Given the description of an element on the screen output the (x, y) to click on. 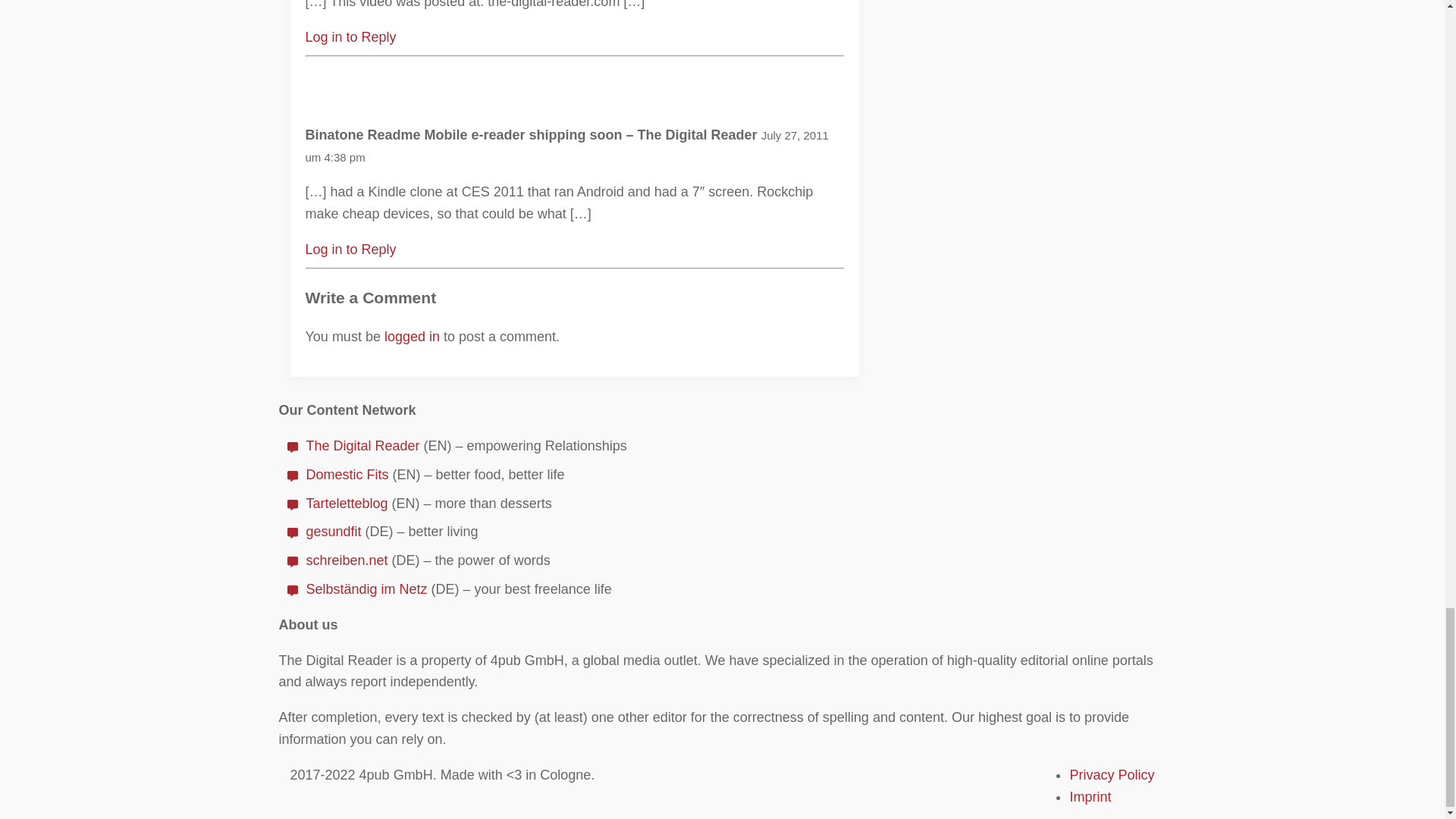
logged in (411, 336)
Log in to Reply (350, 37)
Log in to Reply (350, 249)
